Given the description of an element on the screen output the (x, y) to click on. 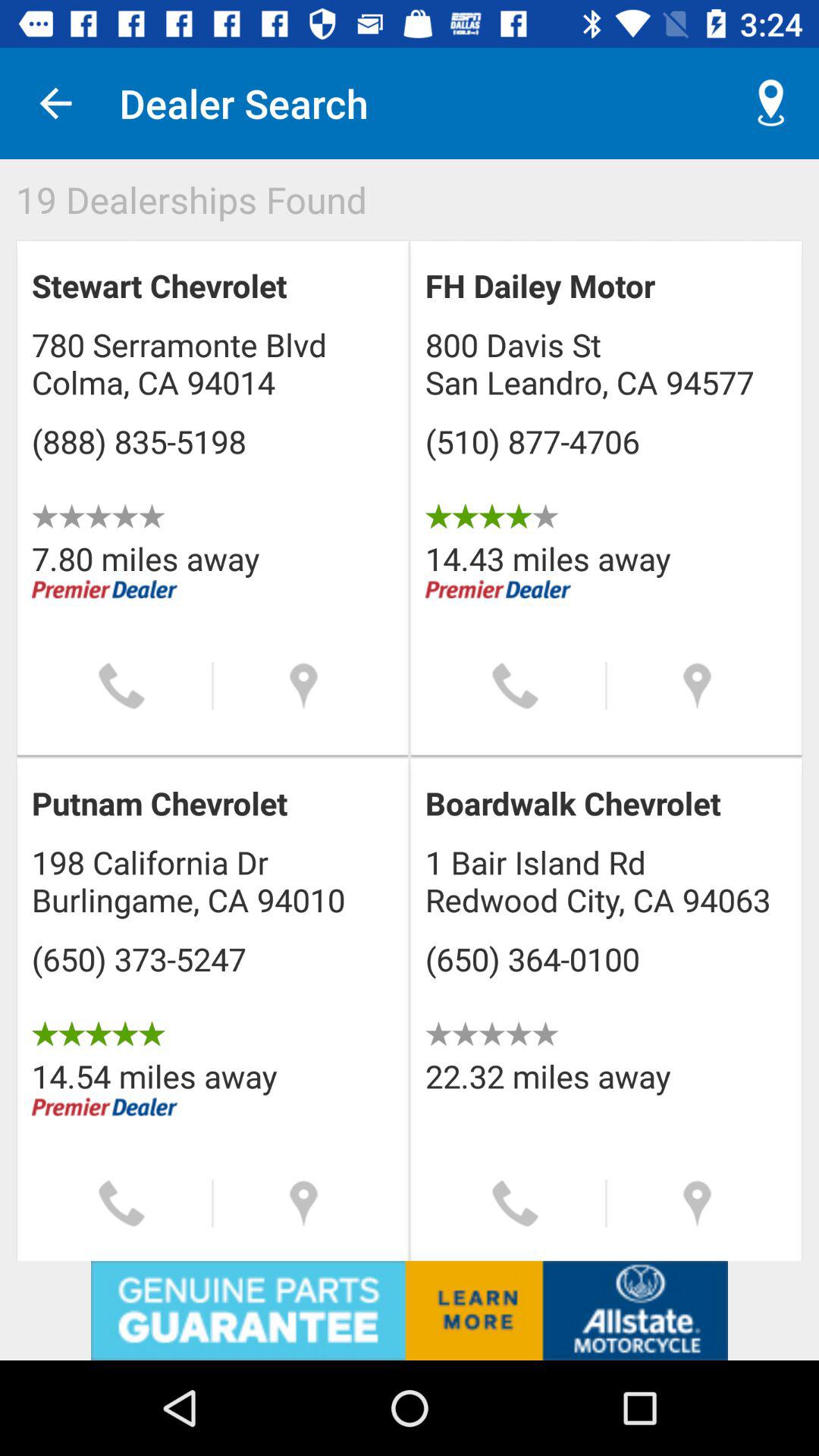
call (121, 1203)
